Given the description of an element on the screen output the (x, y) to click on. 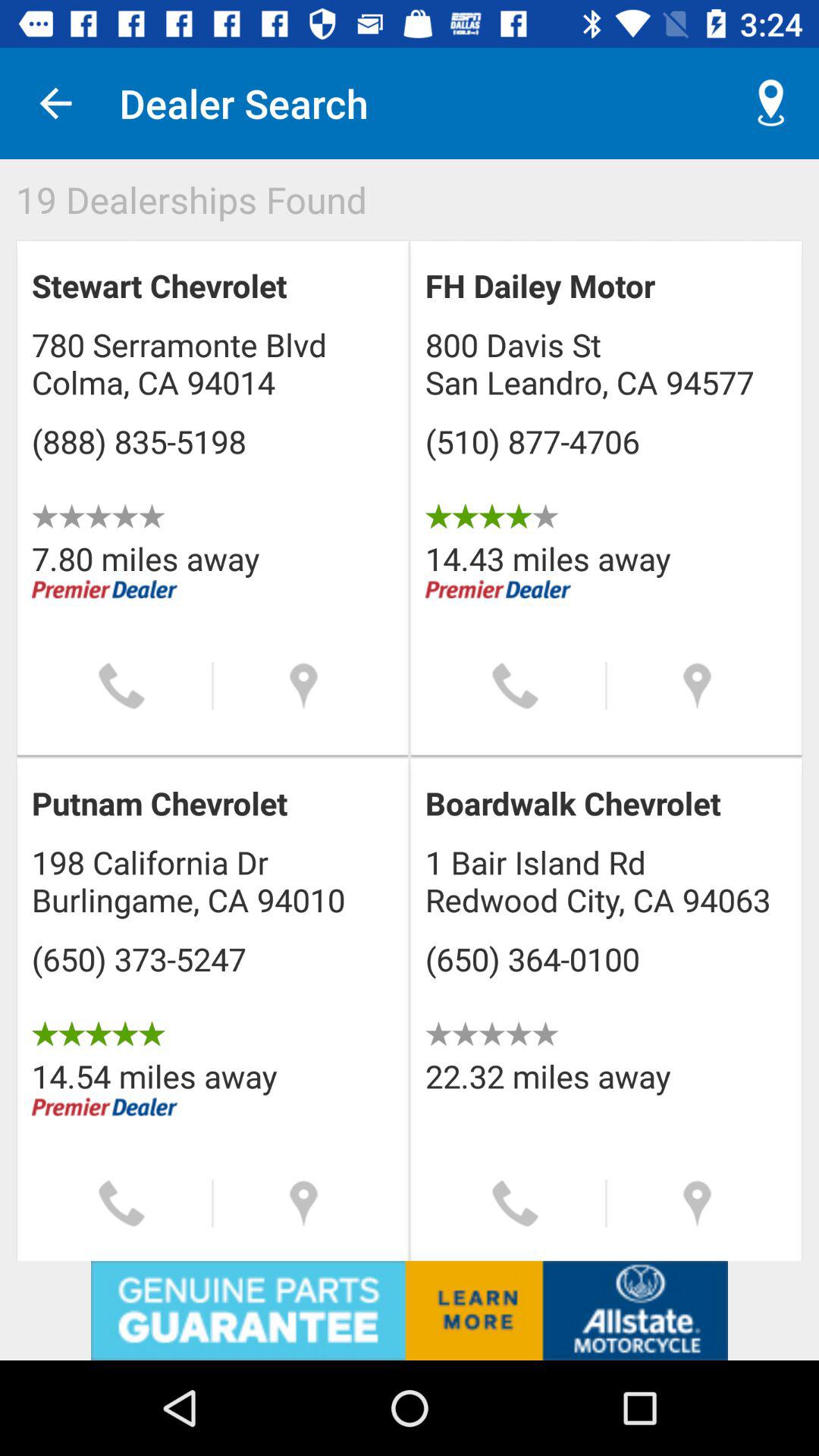
call (121, 1203)
